Given the description of an element on the screen output the (x, y) to click on. 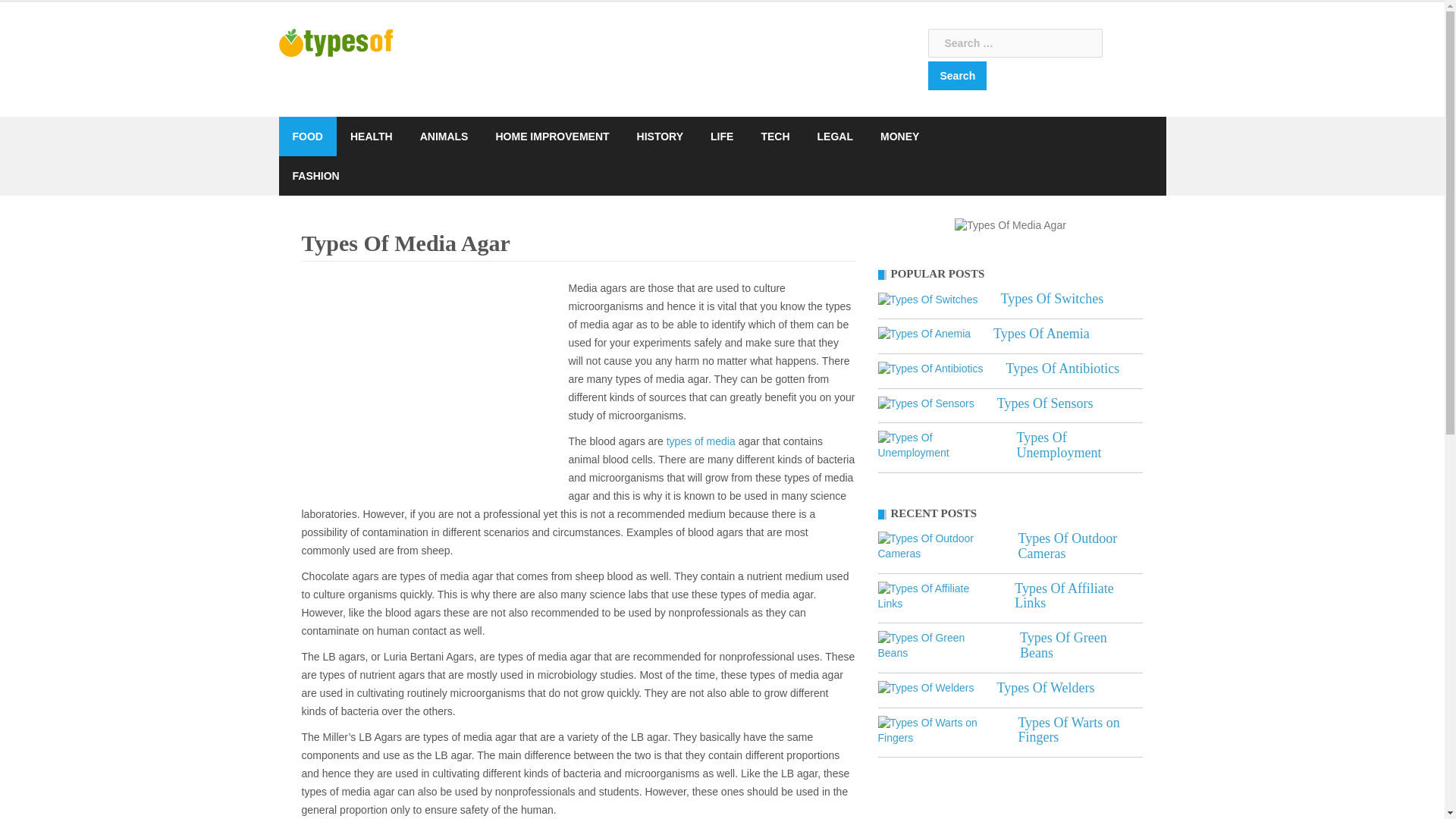
Types Of Anemia (924, 334)
HISTORY (659, 136)
Search (957, 75)
Types Of Switches (927, 299)
MONEY (899, 136)
Types Of Antibiotics (1062, 368)
Types Of Outdoor Cameras (936, 546)
FASHION (315, 175)
Types Of Anemia (1040, 333)
Types Of Sensors (925, 403)
